Given the description of an element on the screen output the (x, y) to click on. 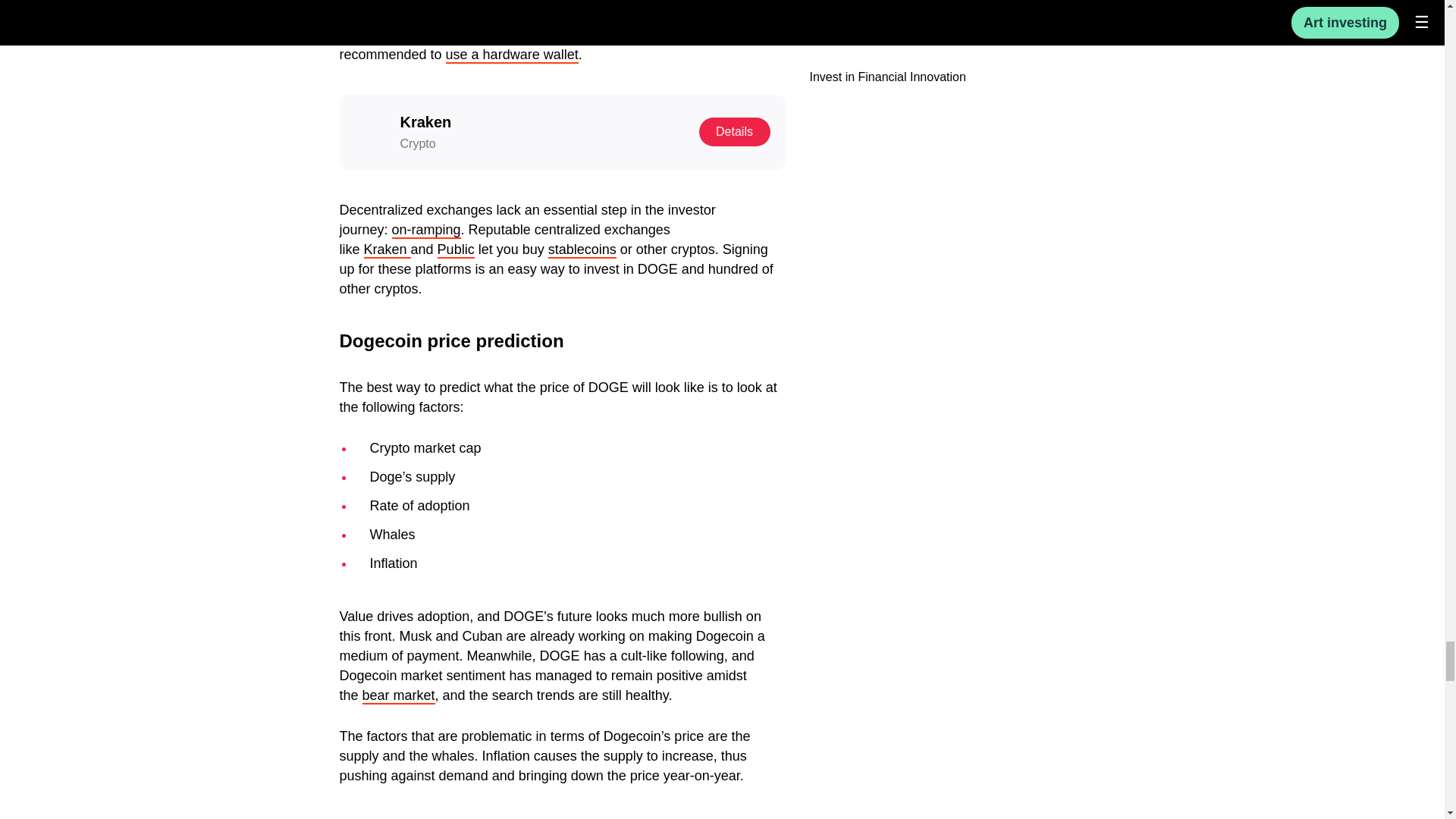
Public (456, 249)
Robinhood (715, 15)
use a hardware wallet (511, 54)
Details (734, 131)
on-ramping (426, 230)
Details (734, 131)
Kraken (631, 15)
Kraken  (387, 249)
stablecoins (581, 249)
bear market (398, 695)
